Given the description of an element on the screen output the (x, y) to click on. 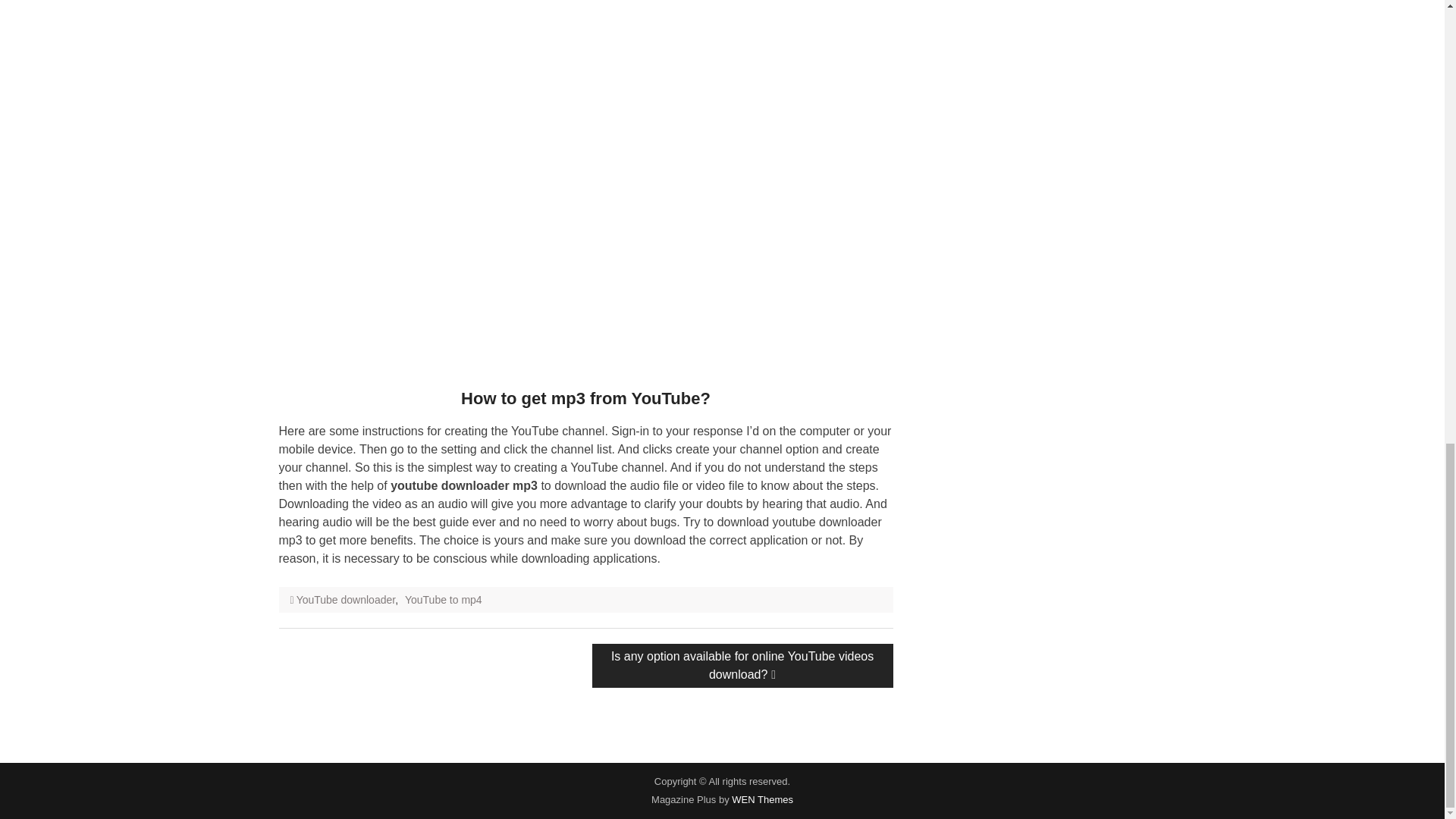
WEN Themes (762, 799)
YouTube downloader (346, 599)
YouTube to mp4 (442, 599)
